Given the description of an element on the screen output the (x, y) to click on. 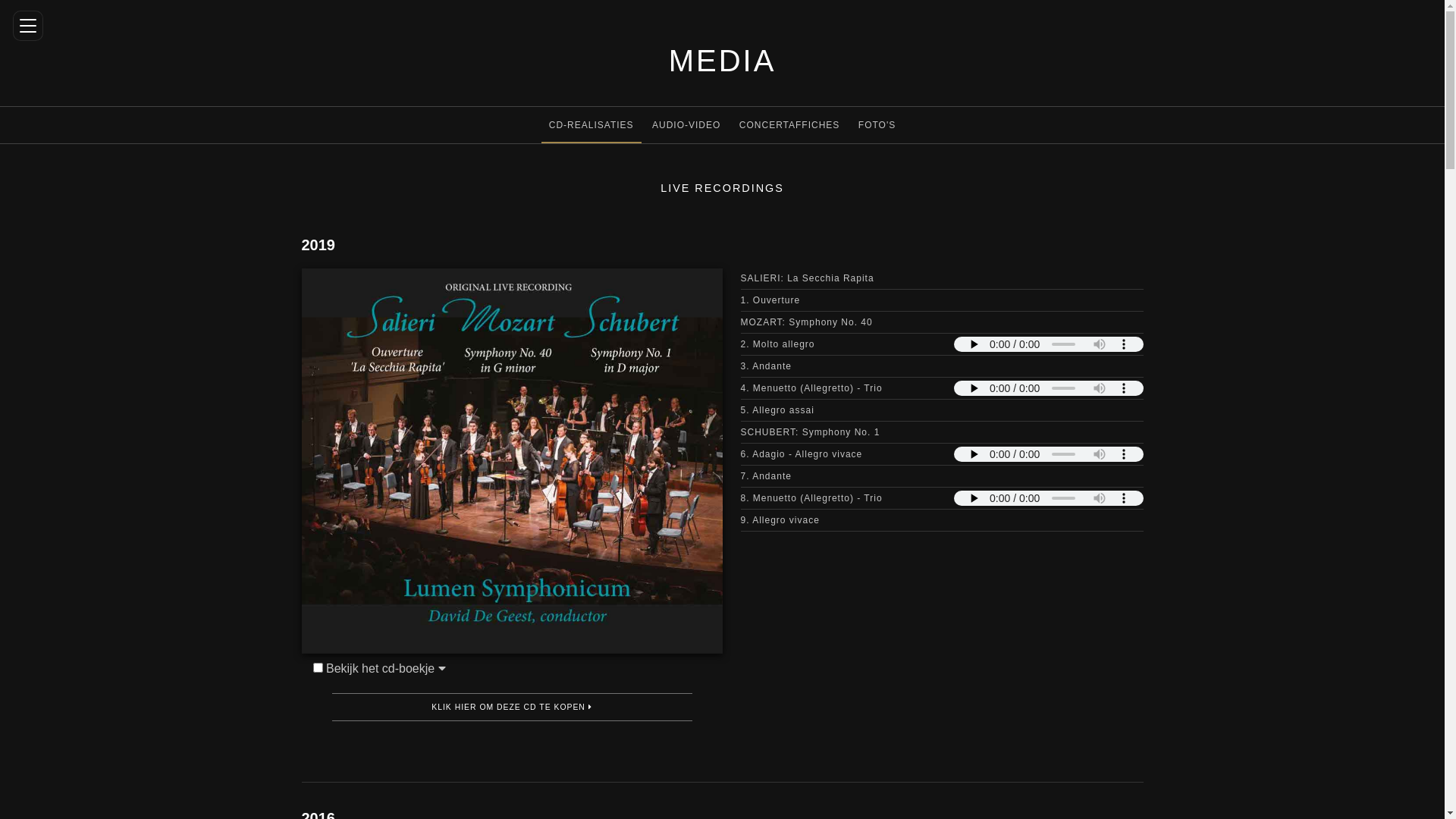
KLIK HIER OM DEZE CD TE KOPEN Element type: text (511, 707)
FOTO'S Element type: text (876, 123)
AUDIO-VIDEO Element type: text (686, 123)
KLIK HIER OM DEZE CD TE KOPEN Element type: text (512, 707)
CD-REALISATIES Element type: text (591, 124)
CONCERTAFFICHES Element type: text (789, 123)
